Given the description of an element on the screen output the (x, y) to click on. 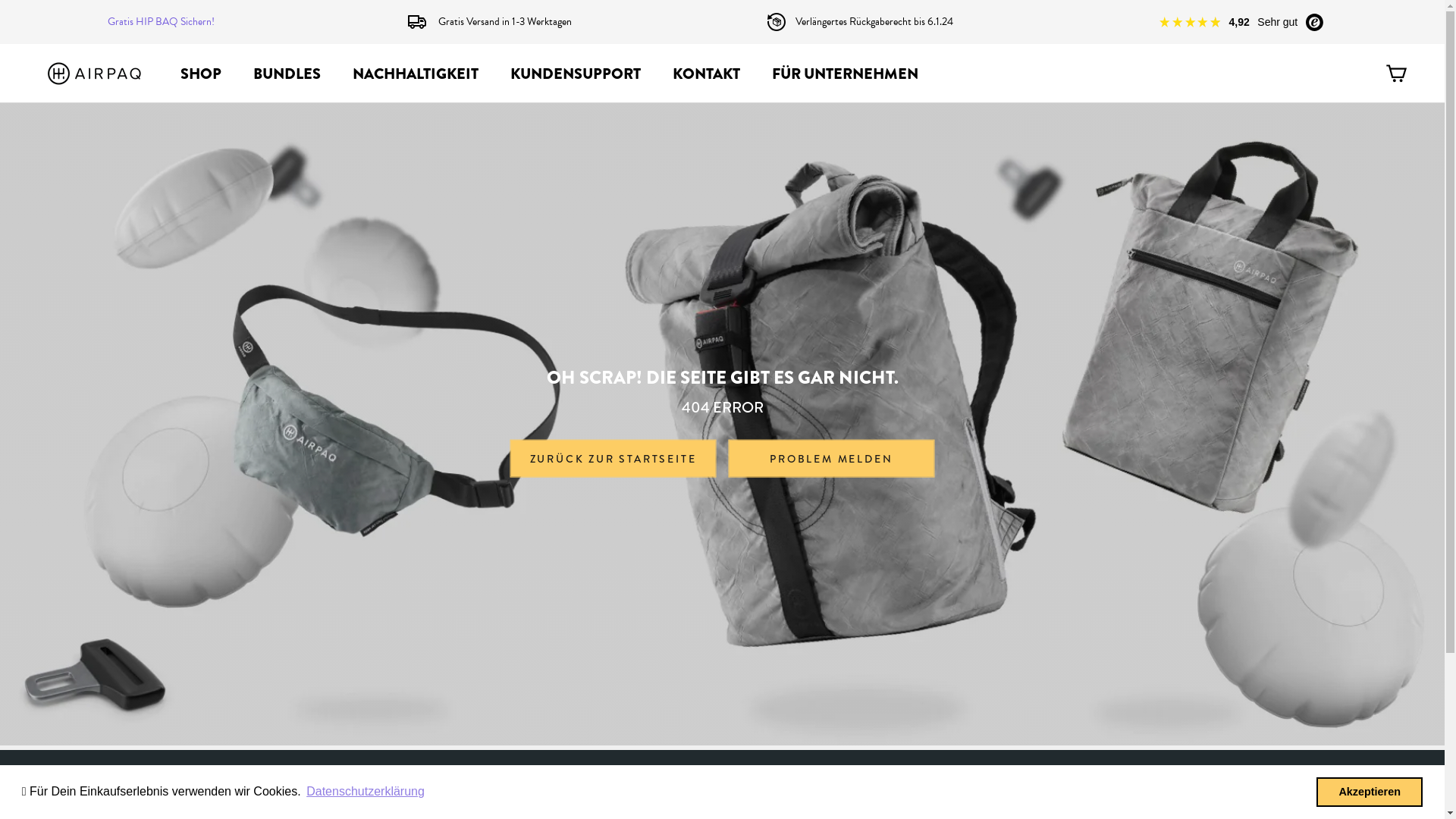
Akzeptieren Element type: text (1369, 791)
NACHHALTIGKEIT Element type: text (415, 73)
KONTAKT Element type: text (706, 73)
KUNDENSUPPORT Element type: text (575, 73)
SHOP Element type: text (200, 73)
AGB Element type: text (1307, 791)
Shop Element type: text (96, 791)
BUNDLES
BUNDLES Element type: text (286, 73)
FAQ Element type: text (697, 791)
PROBLEM MELDEN Element type: text (831, 458)
Gratis HIP BAQ Sichern! Element type: text (160, 21)
